Given the description of an element on the screen output the (x, y) to click on. 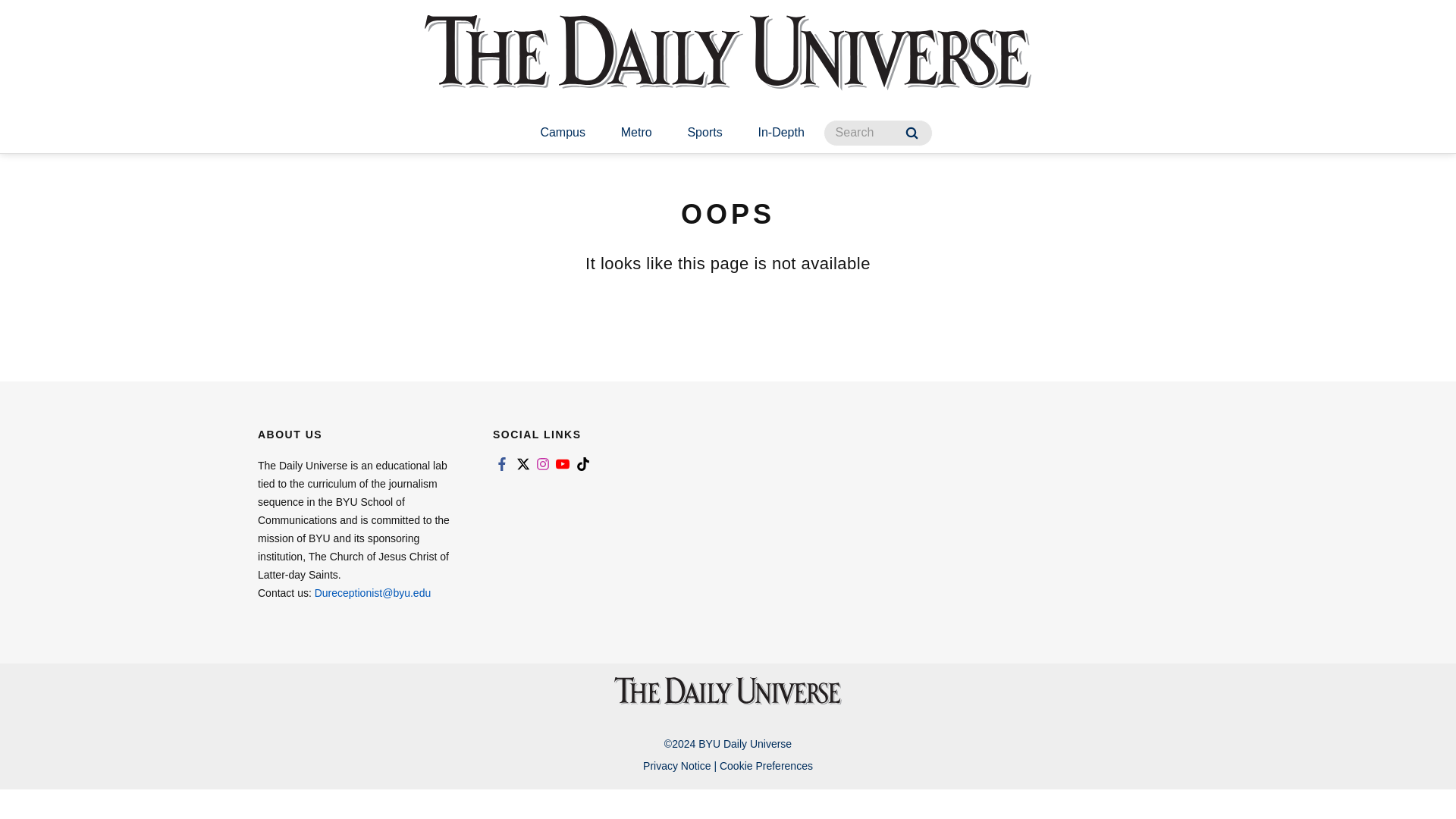
Link to youtube (562, 463)
In-Depth (781, 133)
Link to twitter (522, 463)
Campus (562, 133)
Search (911, 132)
Link to tiktok (582, 463)
Privacy Notice (676, 766)
Cookie Preferences (765, 766)
Link to instagram (542, 463)
Metro (636, 133)
